Given the description of an element on the screen output the (x, y) to click on. 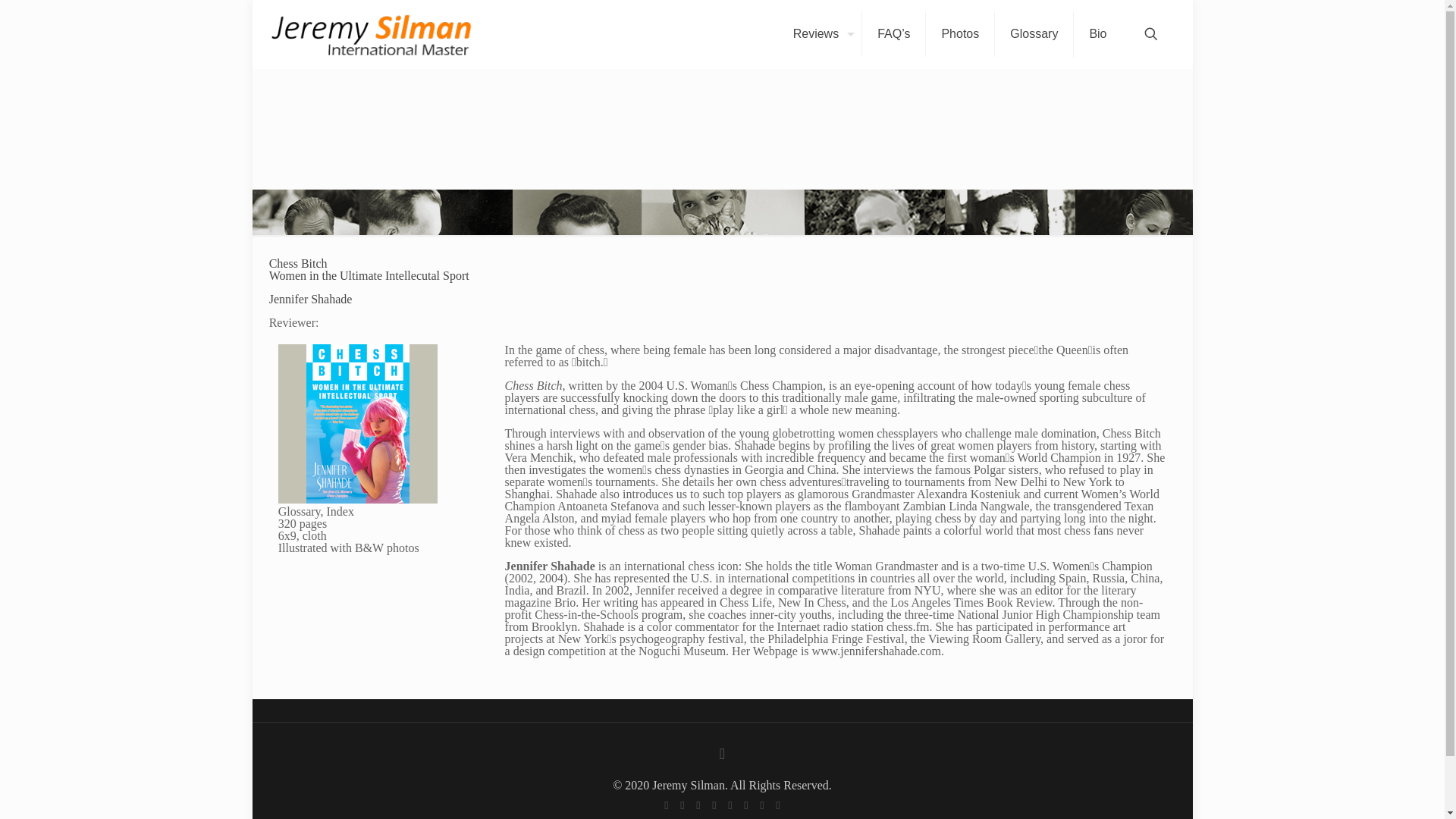
Photos (960, 33)
Facebook (666, 805)
YouTube (713, 805)
A wordpress site (369, 33)
Glossary (1034, 33)
Vimeo (698, 805)
Flickr (730, 805)
Pinterest (745, 805)
Instagram (762, 805)
Bio (1097, 33)
Behance (777, 805)
Reviews (819, 33)
